Given the description of an element on the screen output the (x, y) to click on. 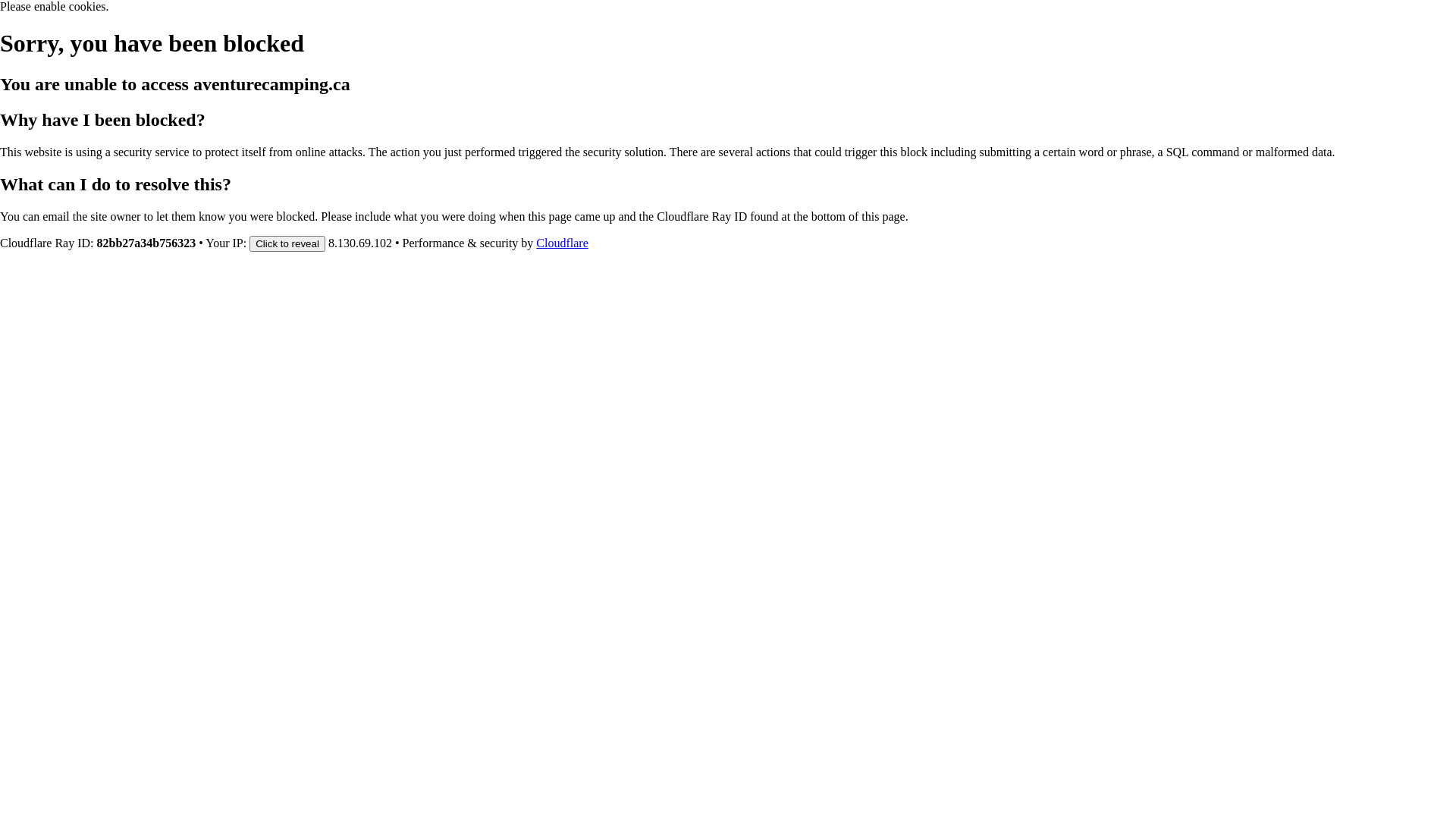
Cloudflare Element type: text (561, 242)
Click to reveal Element type: text (287, 243)
